Given the description of an element on the screen output the (x, y) to click on. 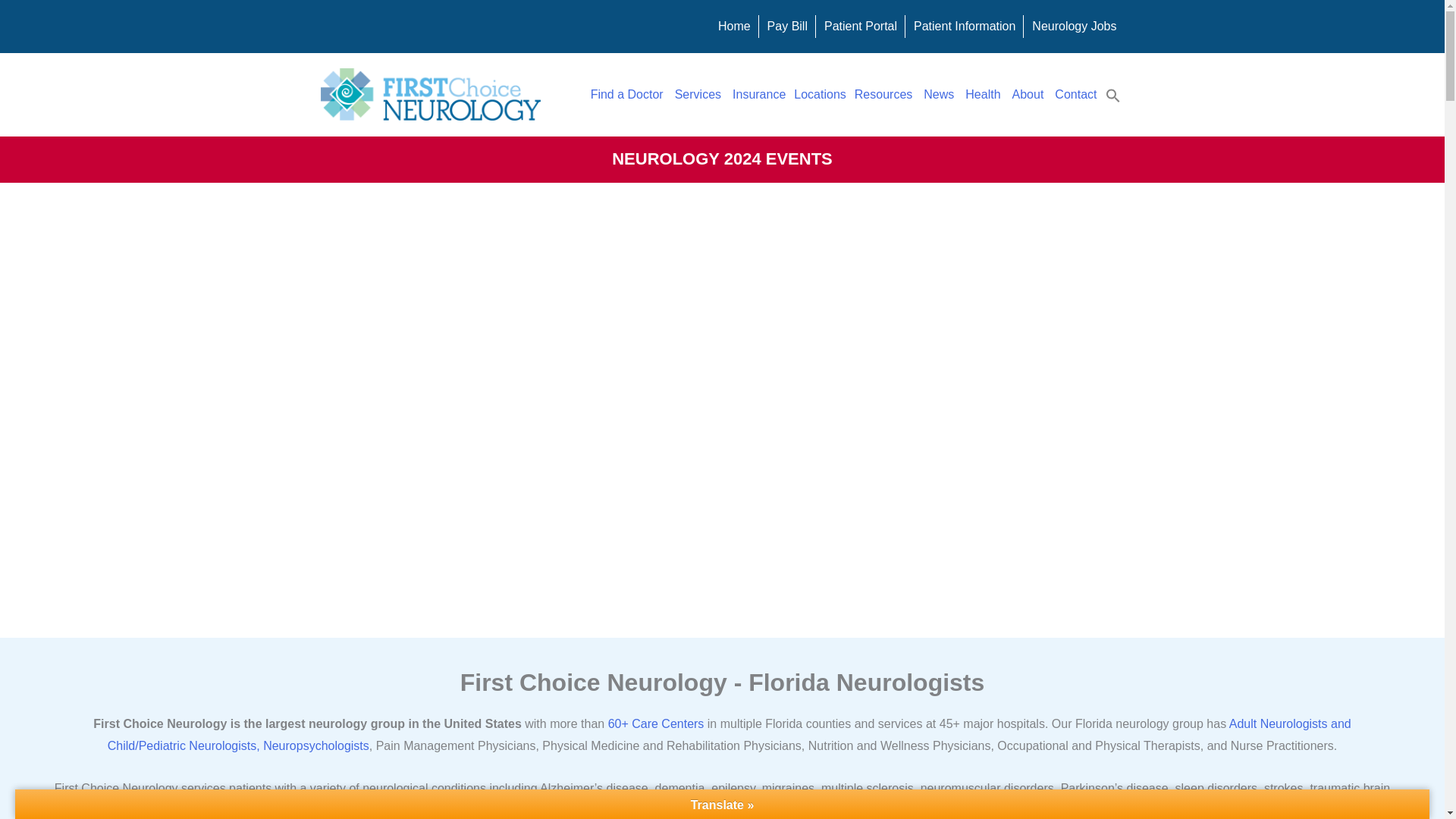
Patient Portal (860, 26)
First Choice Neurology Services (699, 94)
Secure Portal for Patients (860, 26)
Locations (820, 94)
Services (699, 94)
Insurance (759, 94)
Resources (884, 94)
First Choice Neurology (734, 26)
Florida Neurologists (627, 94)
Patient Information (964, 26)
First Choice Neurology (430, 94)
Information for Patients (964, 26)
Home (734, 26)
Neurology Jobs (1074, 26)
Pay Bill (787, 26)
